Given the description of an element on the screen output the (x, y) to click on. 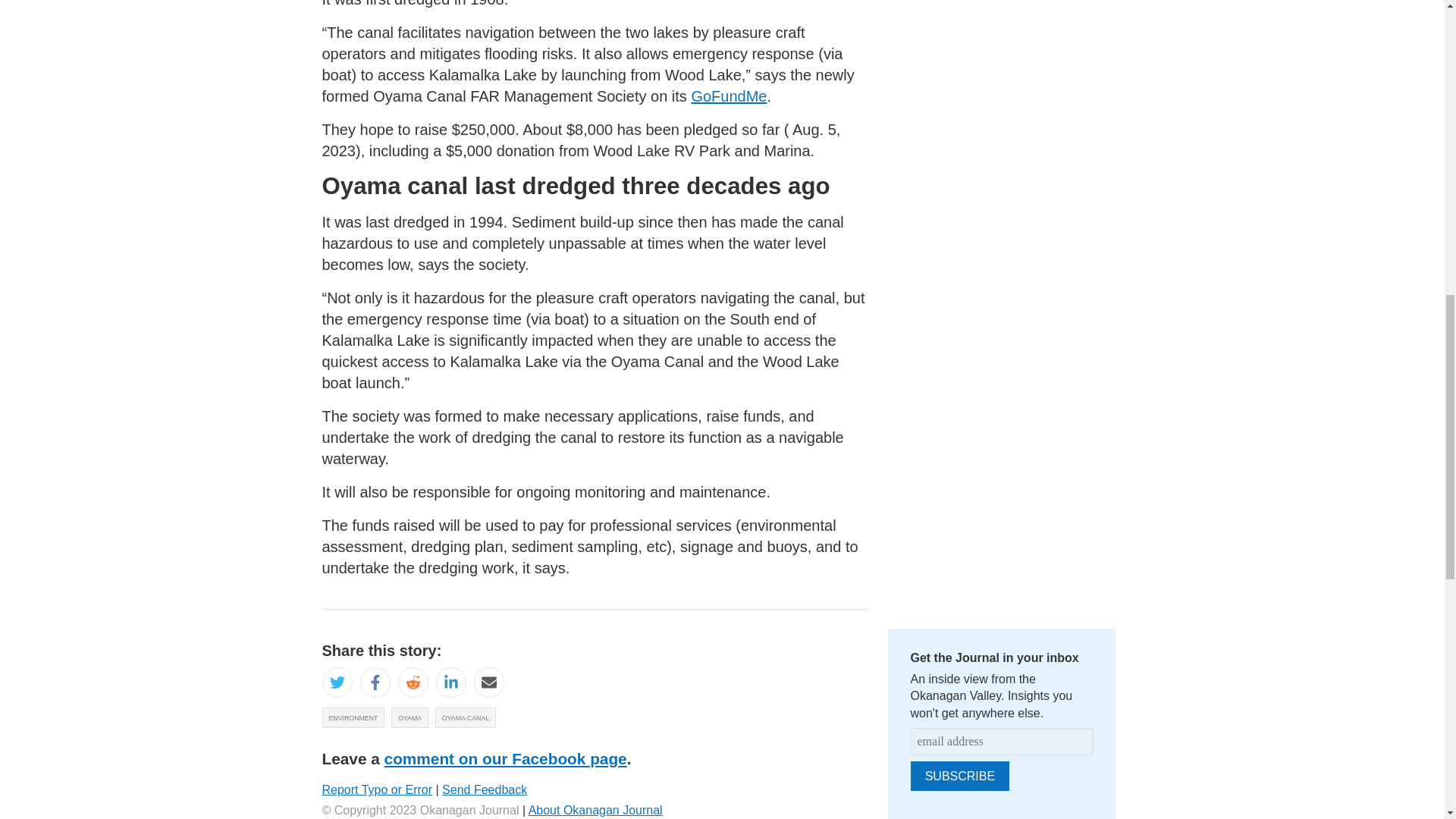
Email this story (488, 682)
Subscribe (959, 776)
About Okanagan Journal (595, 809)
OYAMA (409, 717)
Submit to Reddit (412, 682)
comment on our Facebook page (505, 758)
OYAMA CANAL (465, 717)
Send Feedback (484, 789)
ENVIRONMENT (352, 717)
Share this story on Facebook (374, 682)
Share this story on LinkedIn (450, 682)
Share this story on Twitter (336, 682)
GoFundMe (728, 95)
Subscribe (959, 776)
